Given the description of an element on the screen output the (x, y) to click on. 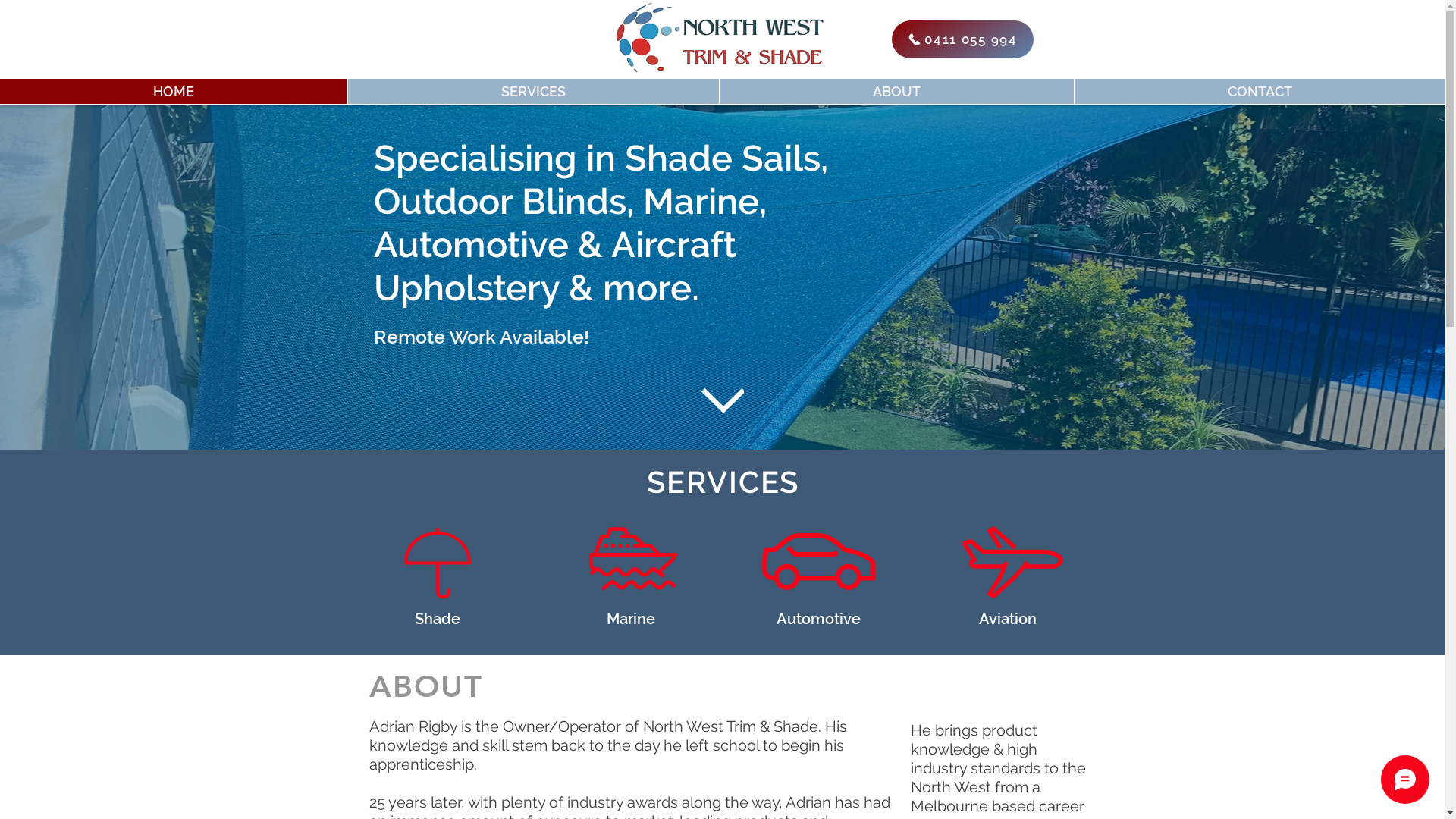
HOME Element type: text (173, 90)
0411 055 994 Element type: text (962, 39)
ABOUT Element type: text (895, 90)
SERVICES Element type: text (532, 90)
CONTACT Element type: text (1258, 90)
